Given the description of an element on the screen output the (x, y) to click on. 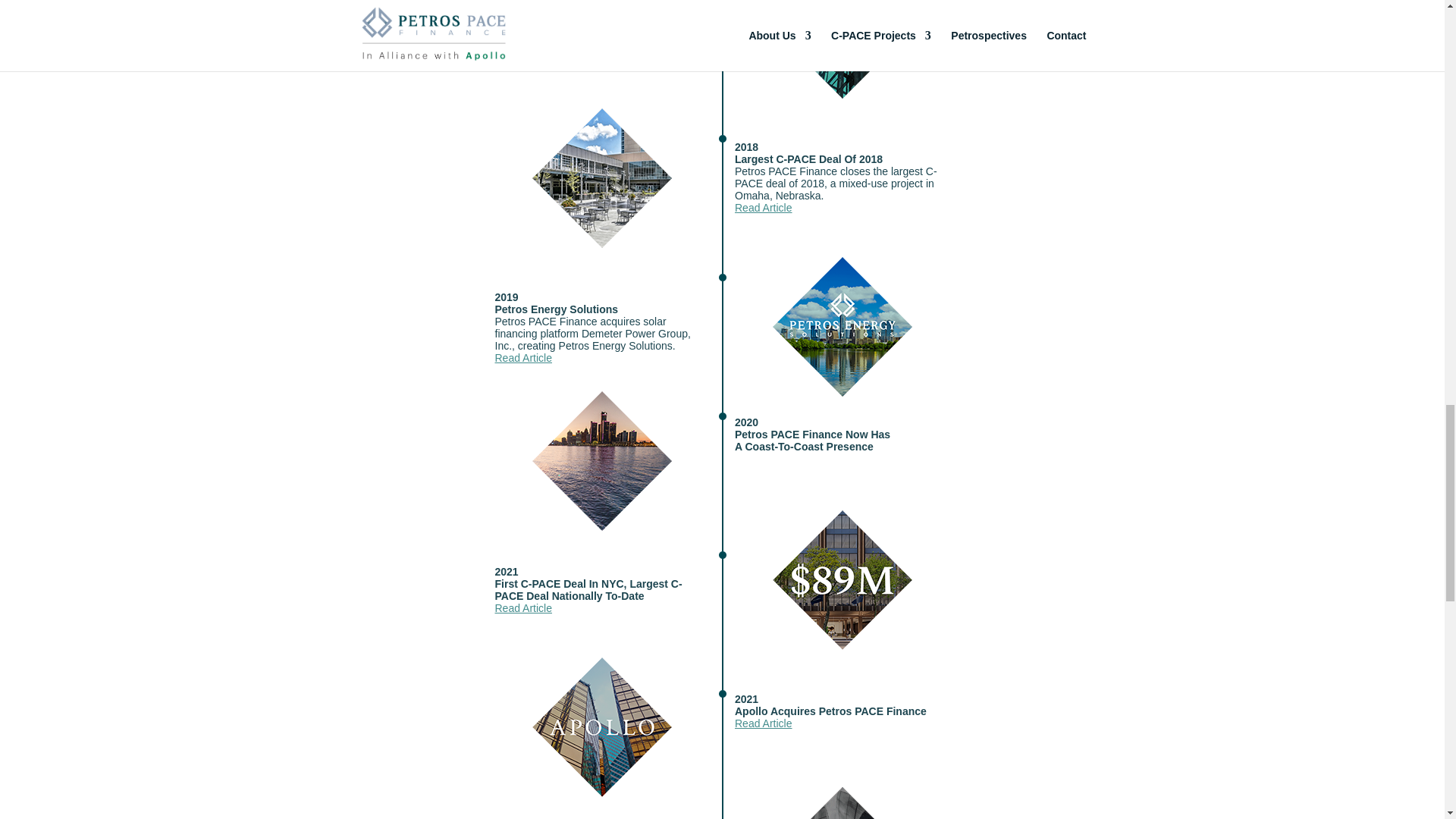
2020-petros-coast-2-coast (601, 460)
2018-CPACE-alliance (842, 49)
2018-largest-CPACE-deal (601, 178)
2021-biggest-deal (842, 580)
Read Article (523, 357)
2019-Petros-energy (842, 326)
Read Article (523, 607)
Read Article (523, 60)
2021-Apollo-acquisition (601, 726)
Read Article (763, 207)
